Given the description of an element on the screen output the (x, y) to click on. 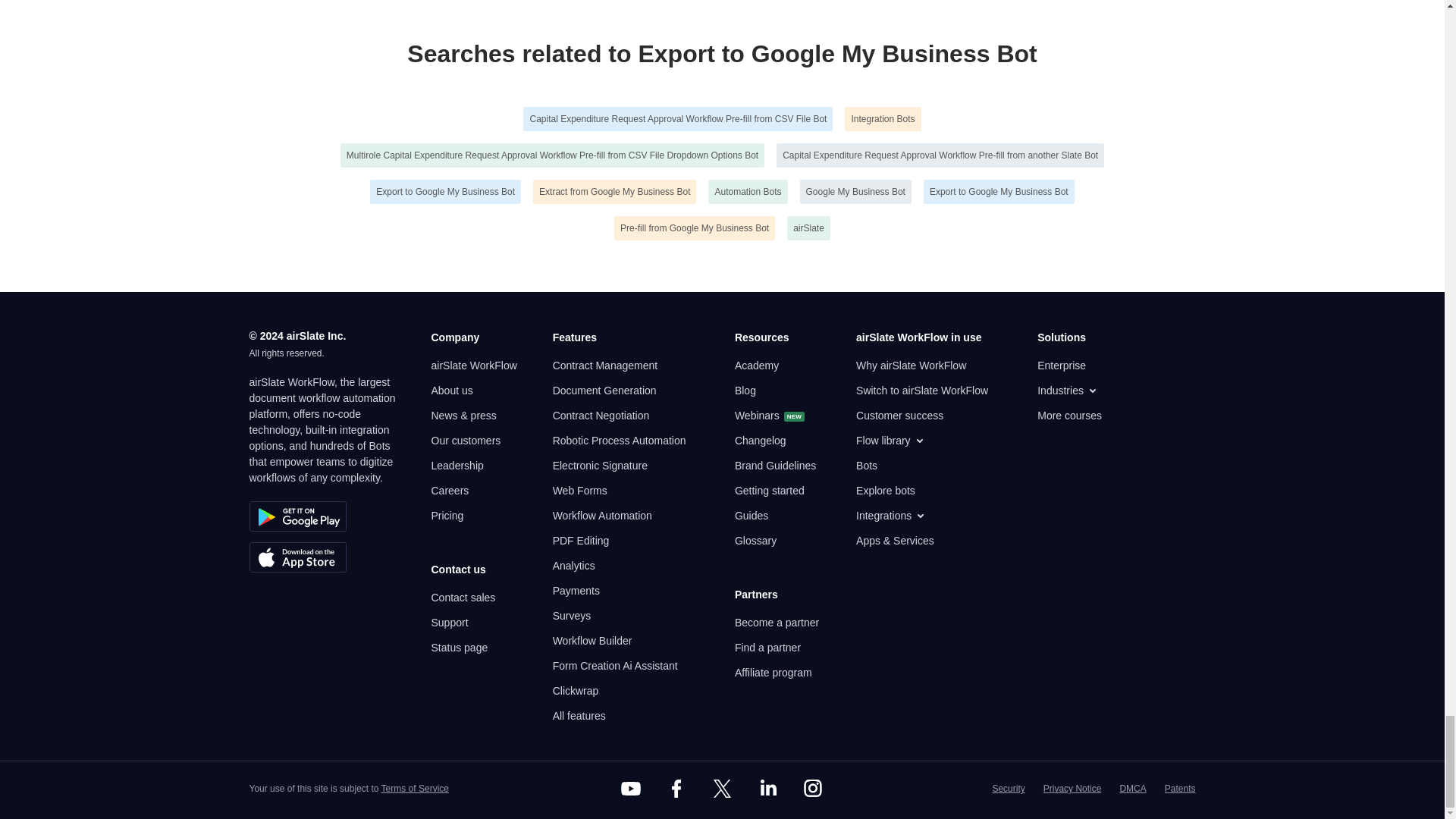
LinkedIn (767, 788)
Twitter (721, 788)
YouTube (630, 788)
Instagram (812, 788)
Facebook (676, 788)
